Given the description of an element on the screen output the (x, y) to click on. 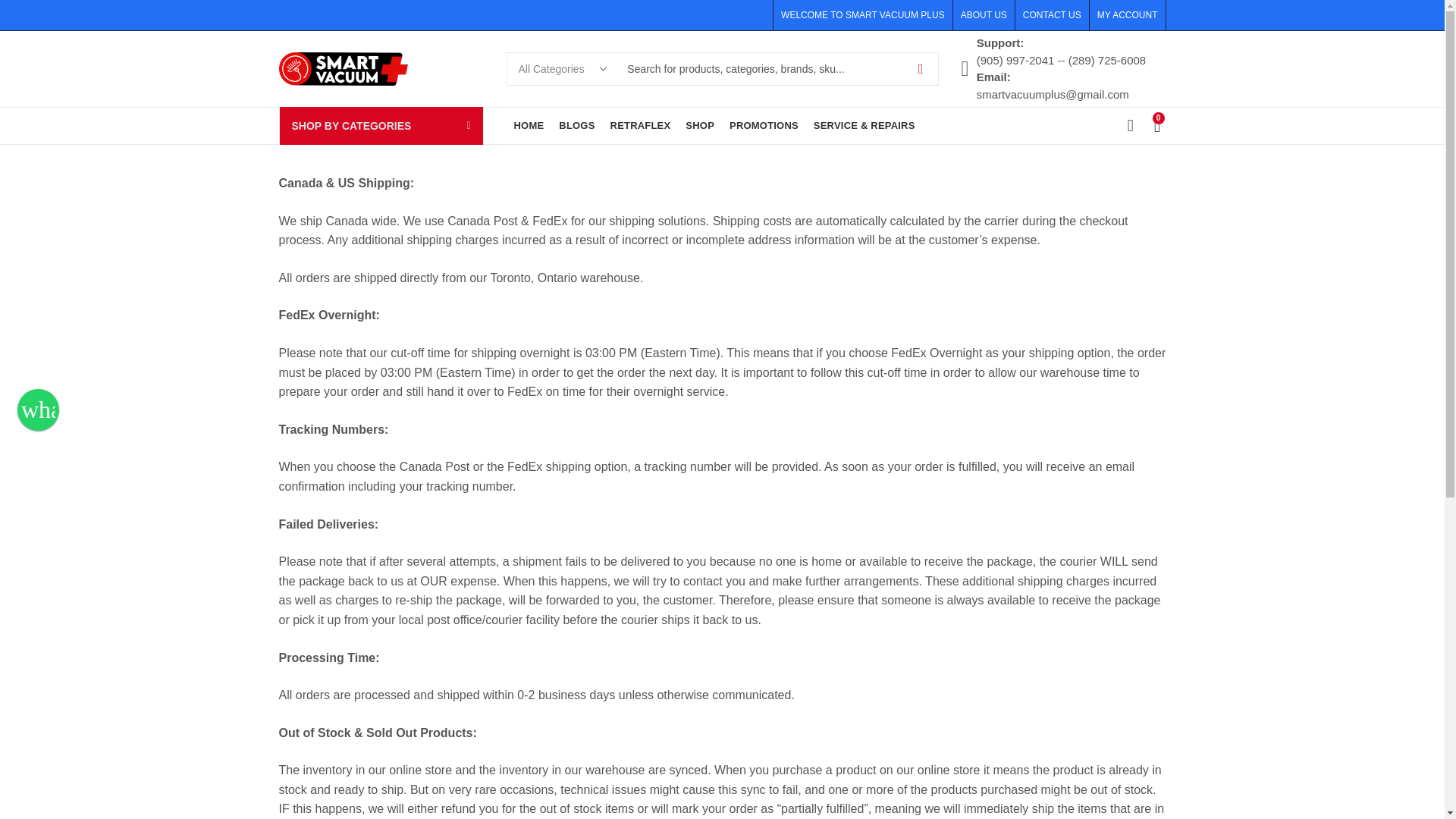
SEARCH (920, 68)
ABOUT US (987, 15)
BLOGS (576, 125)
RETRAFLEX (640, 125)
0 (1160, 125)
MY ACCOUNT (1123, 15)
HOME (528, 125)
SHOP (700, 125)
CONTACT US (1051, 15)
PROMOTIONS (764, 125)
